Given the description of an element on the screen output the (x, y) to click on. 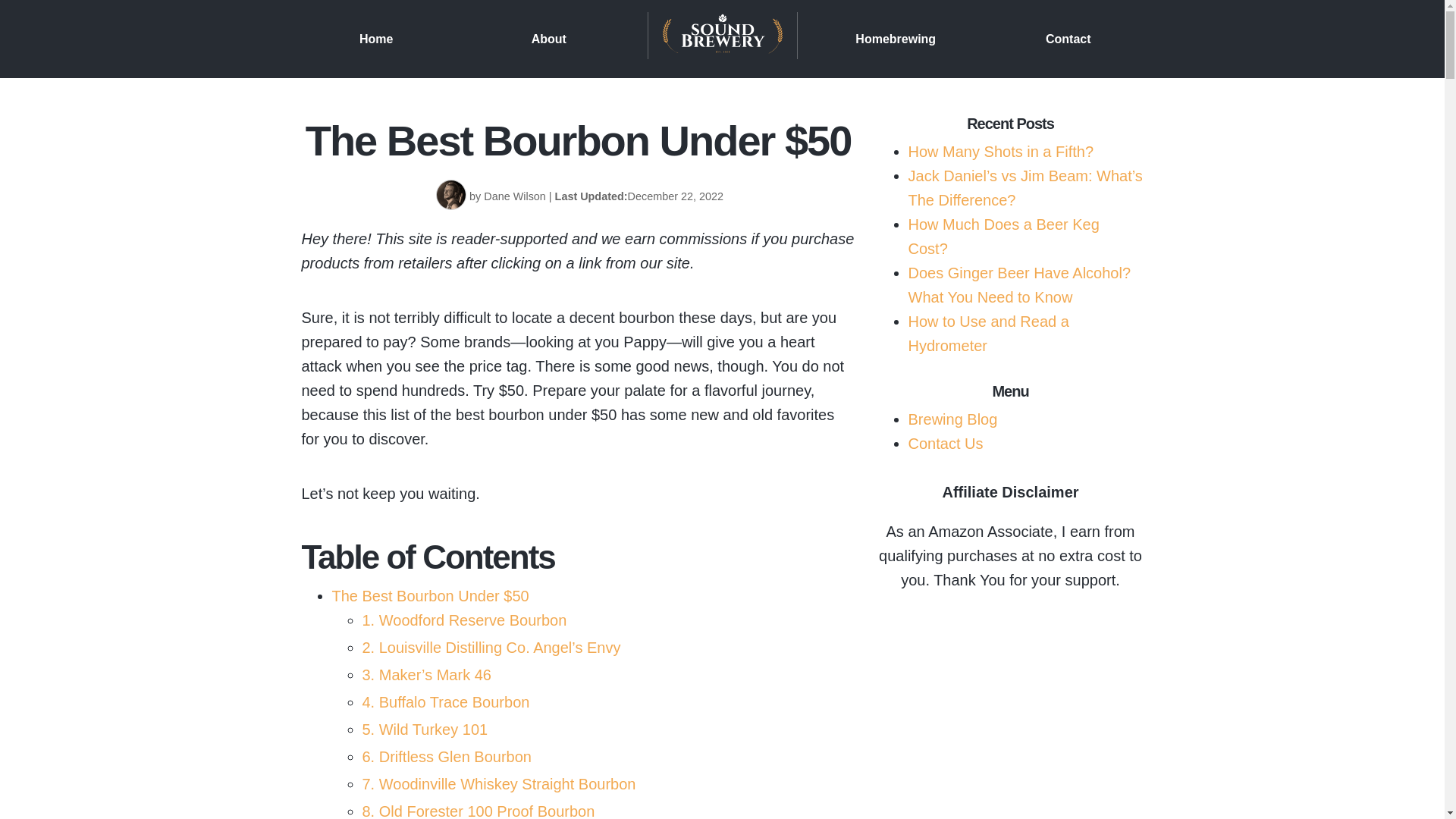
Homebrewing (896, 38)
About (548, 38)
Logo (721, 39)
1. Woodford Reserve Bourbon (464, 619)
7. Woodinville Whiskey Straight Bourbon (499, 783)
6. Driftless Glen Bourbon (446, 756)
4. Buffalo Trace Bourbon (445, 701)
5. Wild Turkey 101 (424, 729)
8. Old Forester 100 Proof Bourbon (478, 811)
Home (376, 38)
Contact (1067, 38)
